Given the description of an element on the screen output the (x, y) to click on. 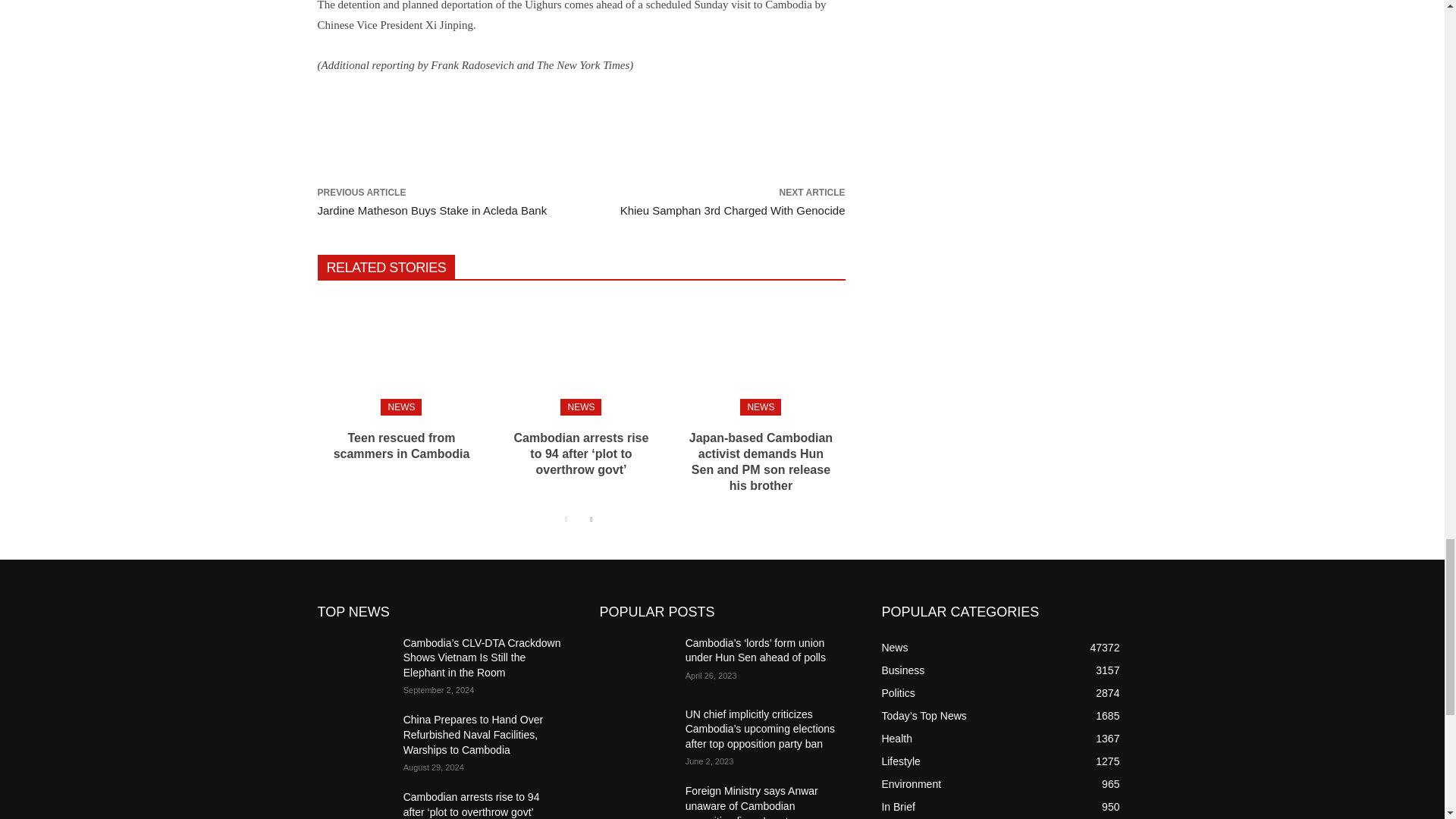
NEWS (401, 406)
Teen rescued from scammers in Cambodia (400, 353)
NEWS (580, 406)
Teen rescued from scammers in Cambodia (401, 445)
Teen rescued from scammers in Cambodia (401, 445)
Khieu Samphan 3rd Charged With Genocide (732, 210)
NEWS (759, 406)
Jardine Matheson Buys Stake in Acleda Bank (432, 210)
